Given the description of an element on the screen output the (x, y) to click on. 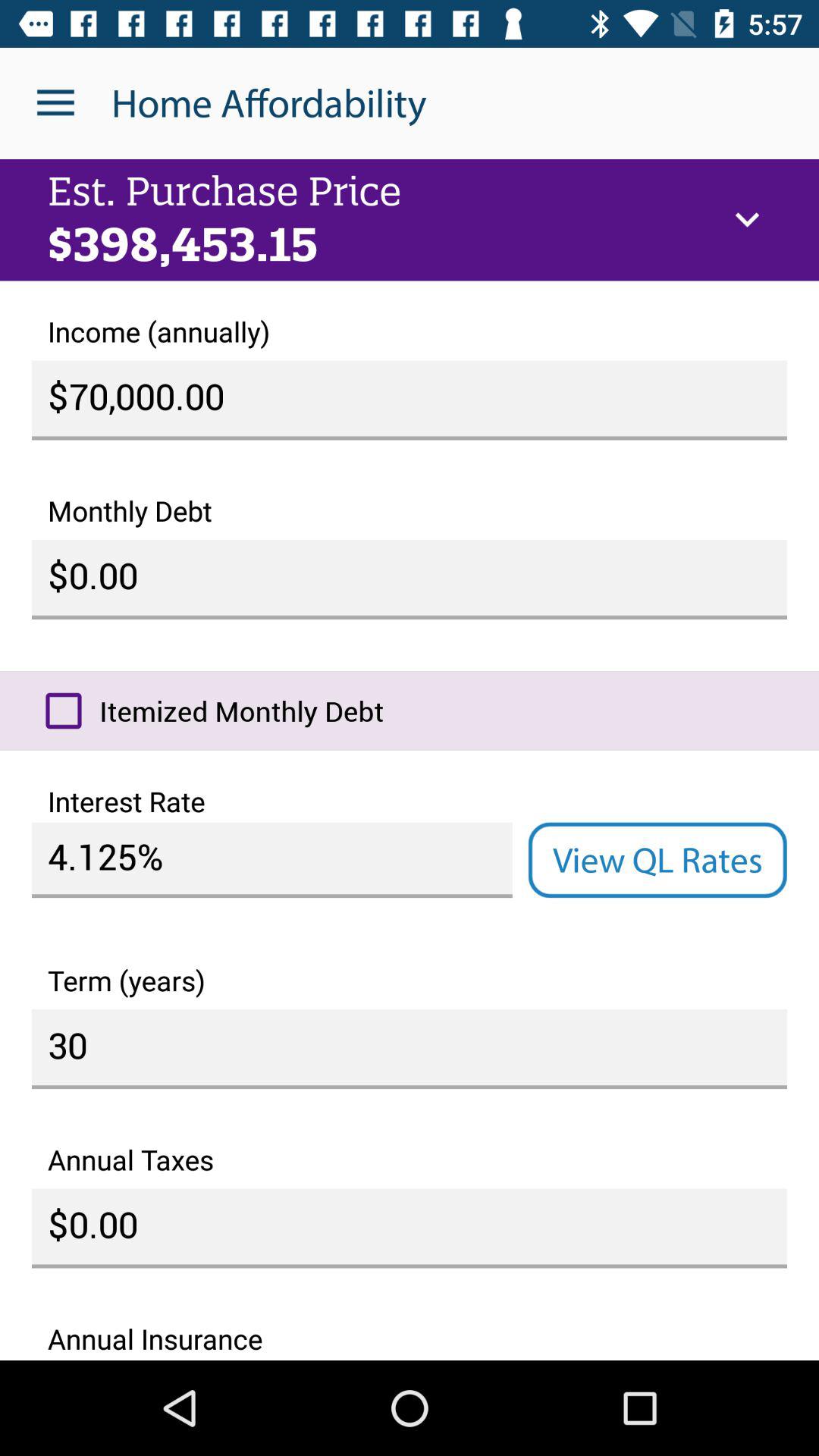
open item below home affordability item (747, 219)
